Given the description of an element on the screen output the (x, y) to click on. 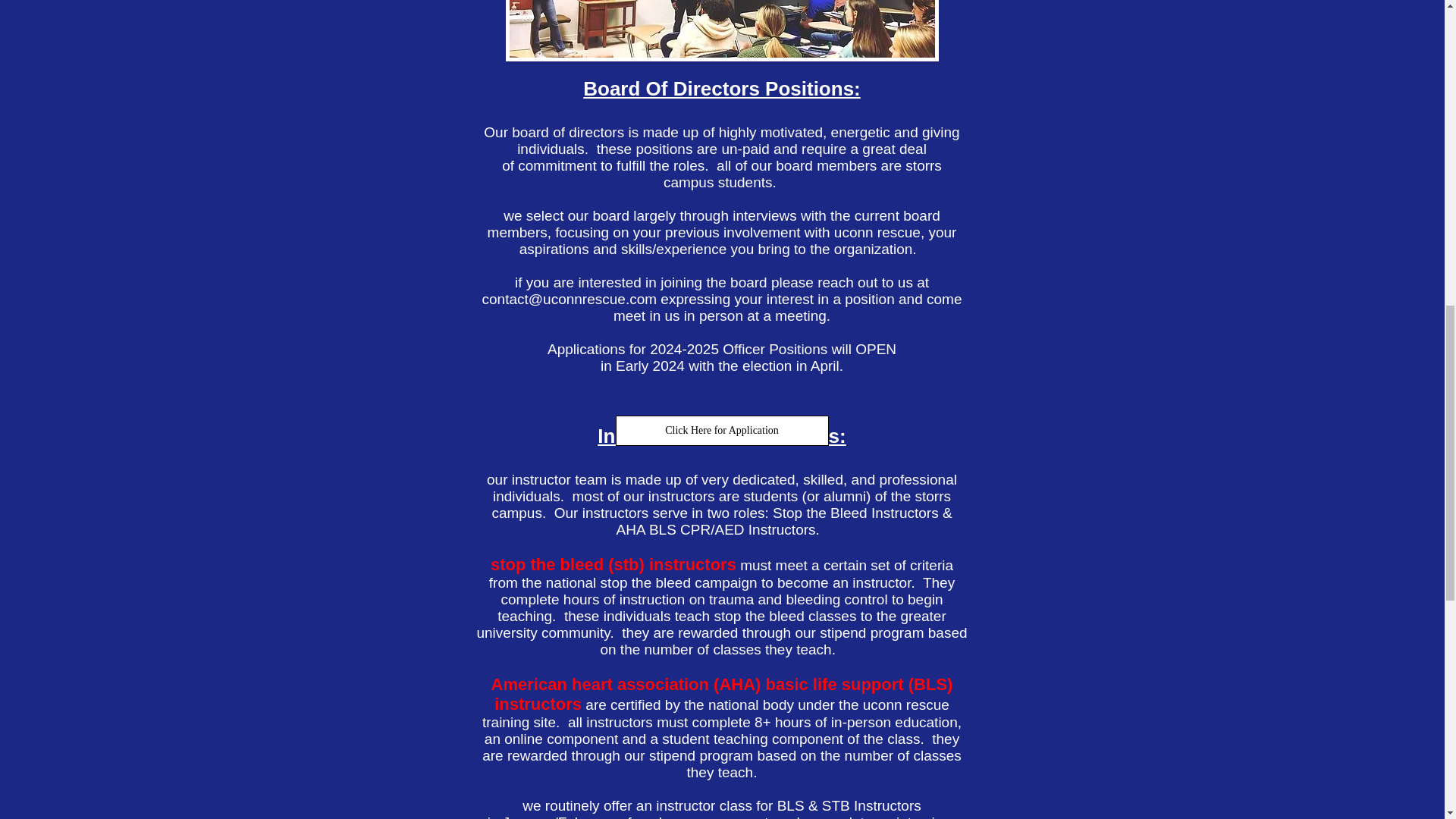
Click Here for Application (721, 430)
